Given the description of an element on the screen output the (x, y) to click on. 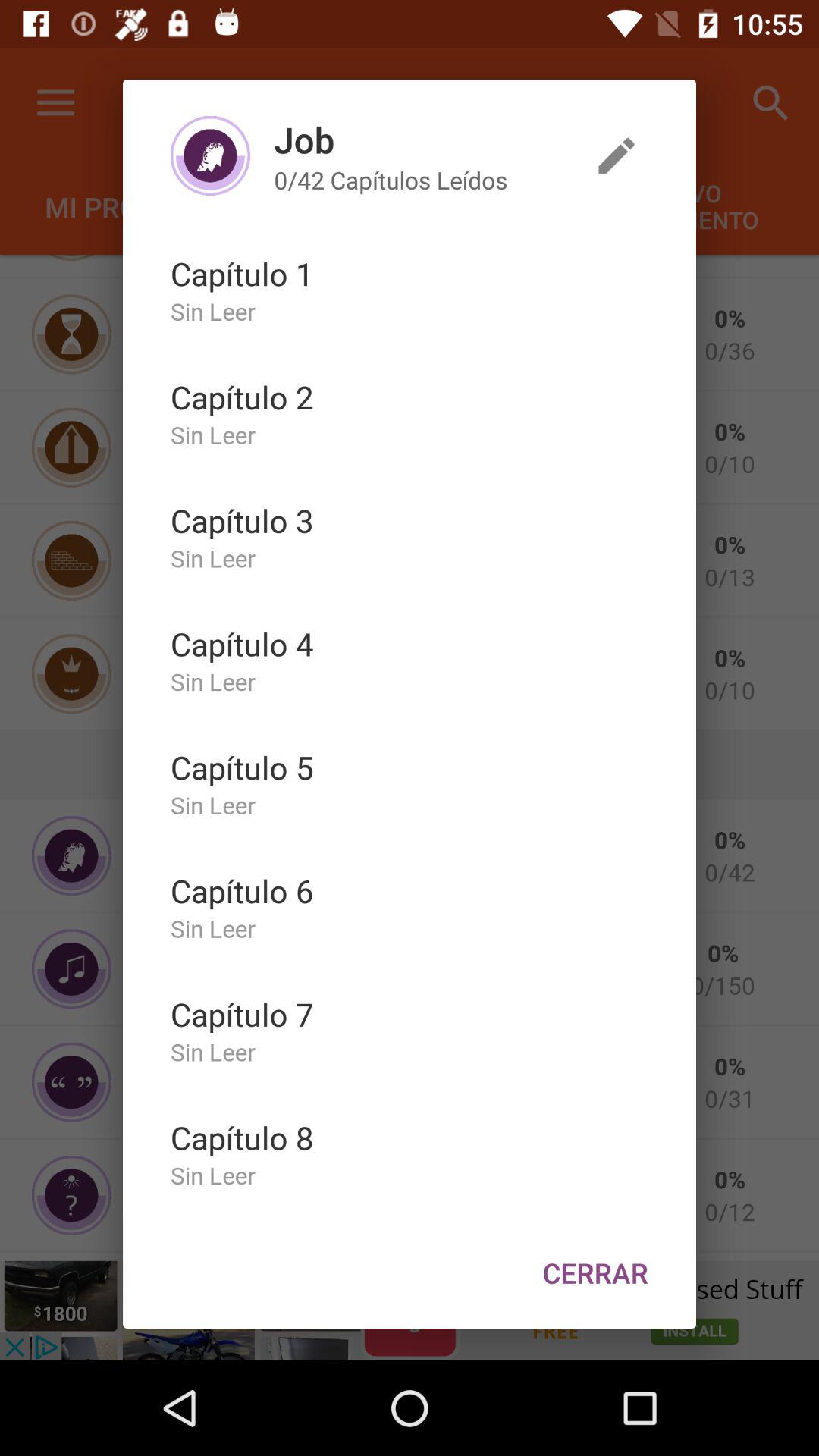
edit these fields (616, 155)
